Given the description of an element on the screen output the (x, y) to click on. 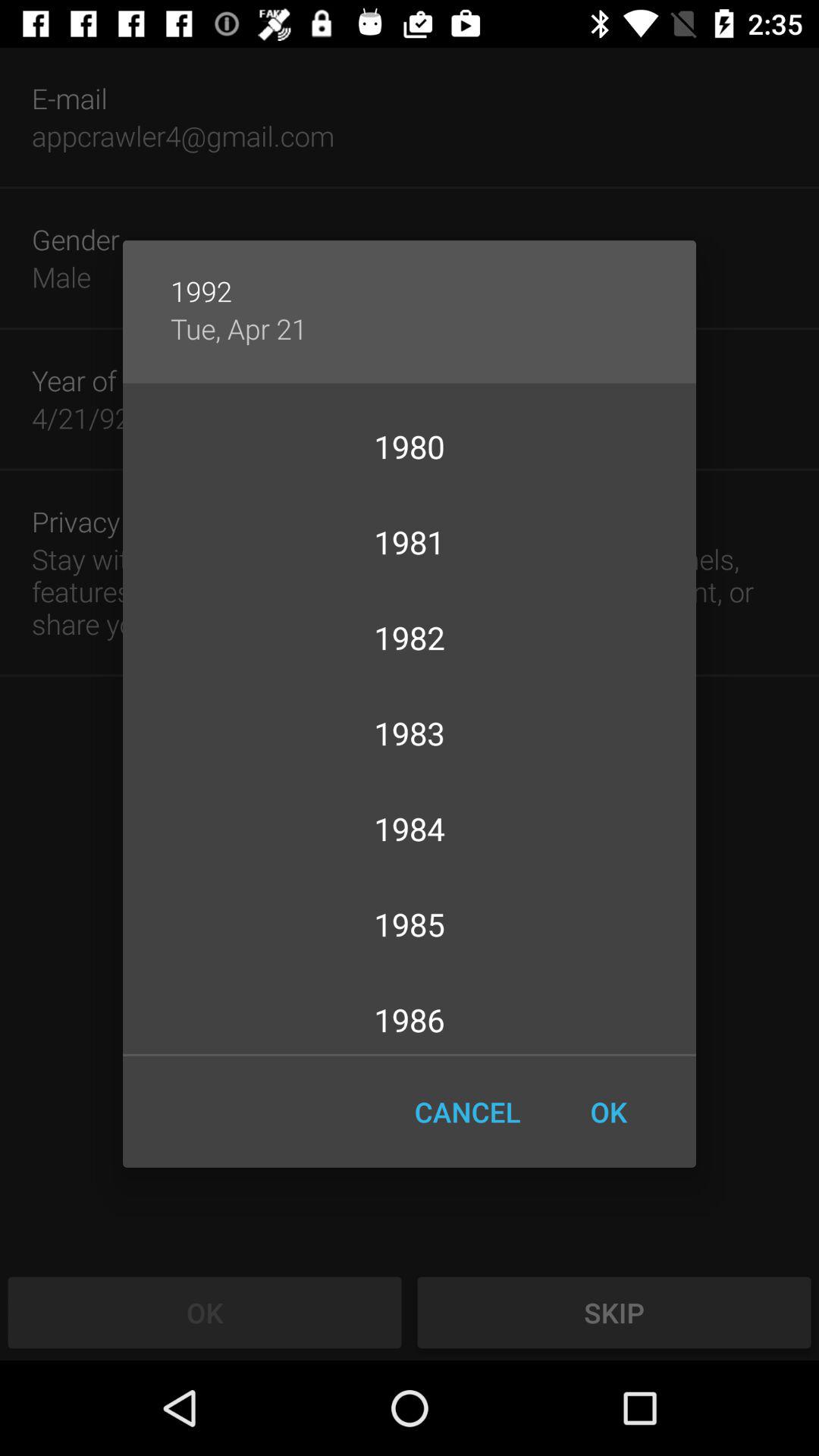
choose the ok icon (608, 1111)
